Given the description of an element on the screen output the (x, y) to click on. 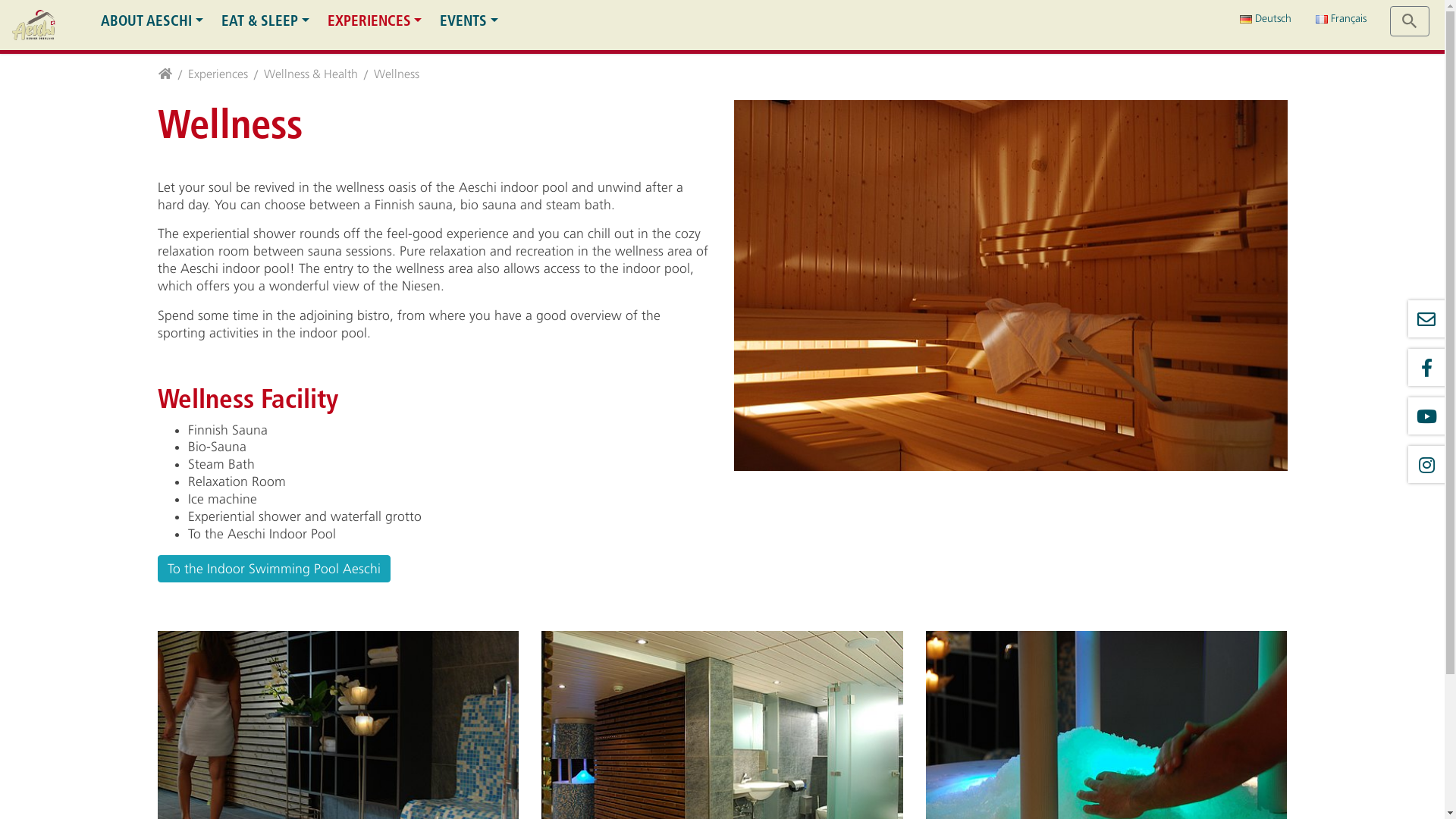
Experiences Element type: text (217, 75)
To the Indoor Swimming Pool Aeschi Element type: text (273, 569)
Wellness & Health Element type: text (310, 75)
EXPERIENCES Element type: text (374, 21)
Wellness Element type: text (395, 75)
EVENTS Element type: text (468, 21)
EAT & SLEEP Element type: text (265, 21)
ABOUT AESCHI Element type: text (151, 21)
www.aeschi-tourismus.ch Element type: text (164, 75)
Deutsch Element type: text (1265, 18)
Aeschi Tourismus Element type: hover (33, 24)
